Given the description of an element on the screen output the (x, y) to click on. 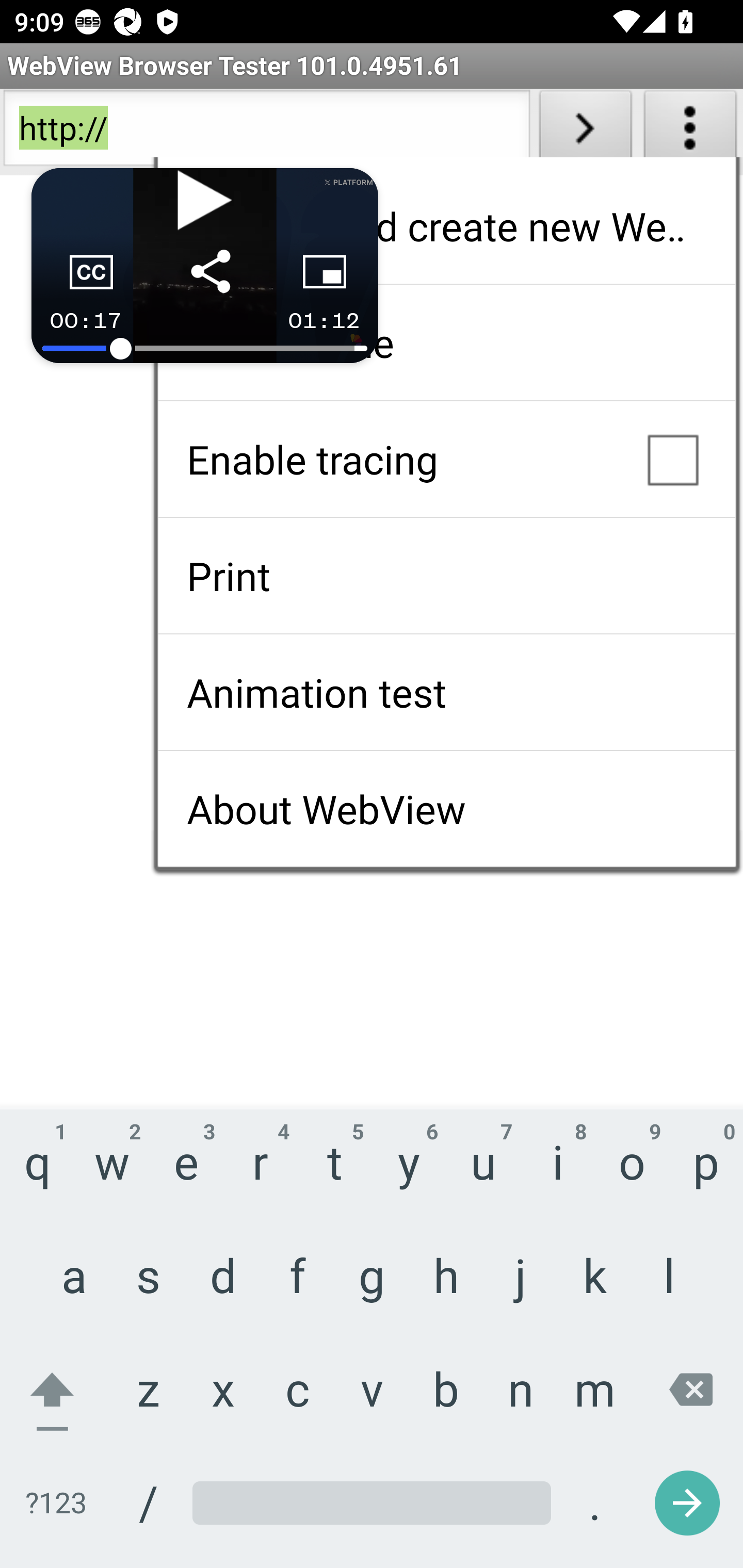
Destroy and create new WebView (446, 225)
Clear cache (446, 342)
Enable tracing (446, 459)
Print (446, 575)
Animation test (446, 692)
About WebView (446, 809)
